Given the description of an element on the screen output the (x, y) to click on. 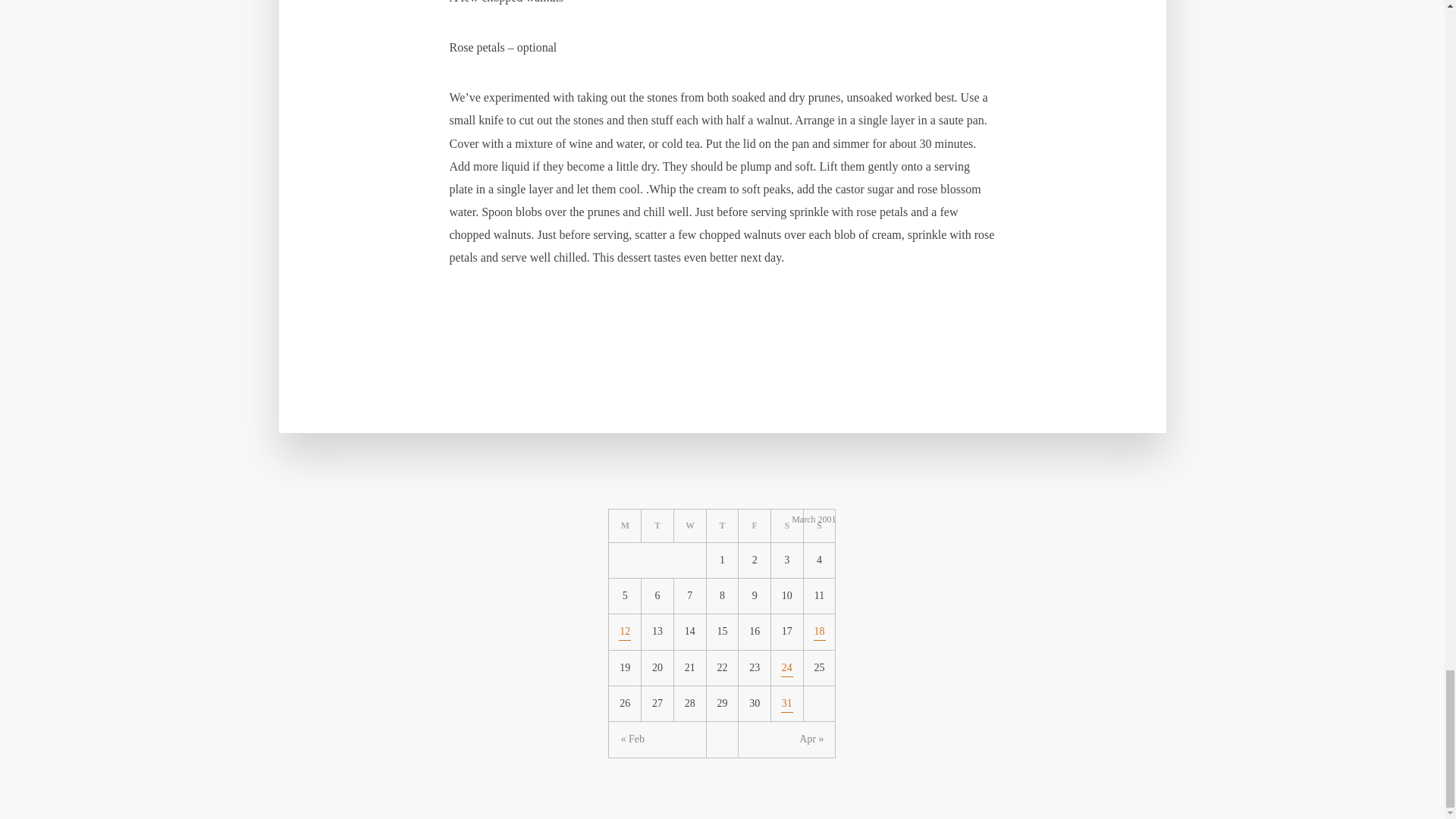
Friday (754, 525)
Wednesday (690, 525)
Saturday (787, 525)
Monday (625, 525)
Tuesday (658, 525)
Thursday (722, 525)
Sunday (819, 525)
